Given the description of an element on the screen output the (x, y) to click on. 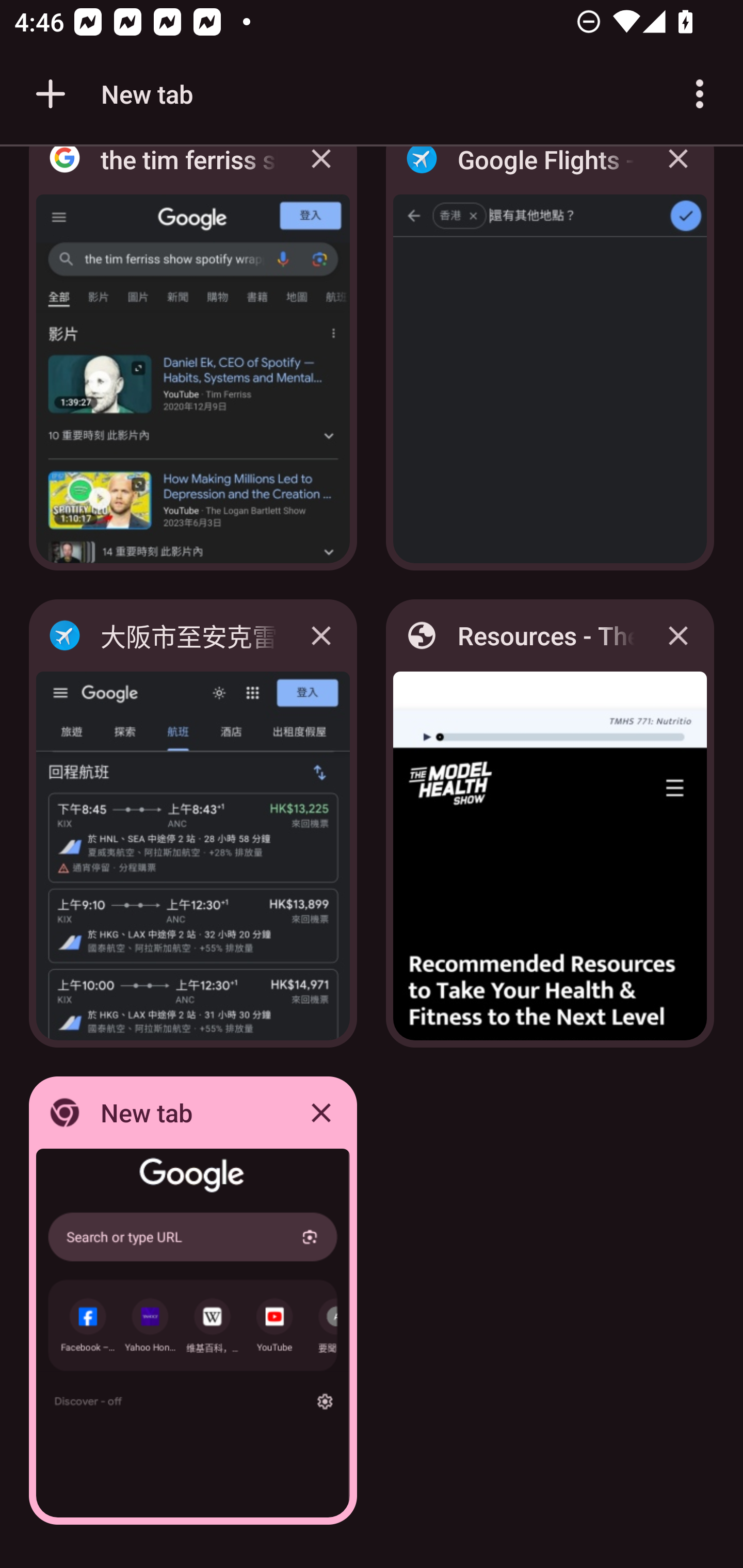
New tab (111, 93)
Customize and control Google Chrome (699, 93)
Close Google Flights - 尋找廉價航班選項及追蹤價格 tab (677, 173)
Close 大阪市至安克雷奇 | Google Flights tab (320, 635)
Close Resources - The Model Health Show tab (677, 635)
New tab New tab, tab Close New tab tab (192, 1300)
Close New tab tab (320, 1112)
